Given the description of an element on the screen output the (x, y) to click on. 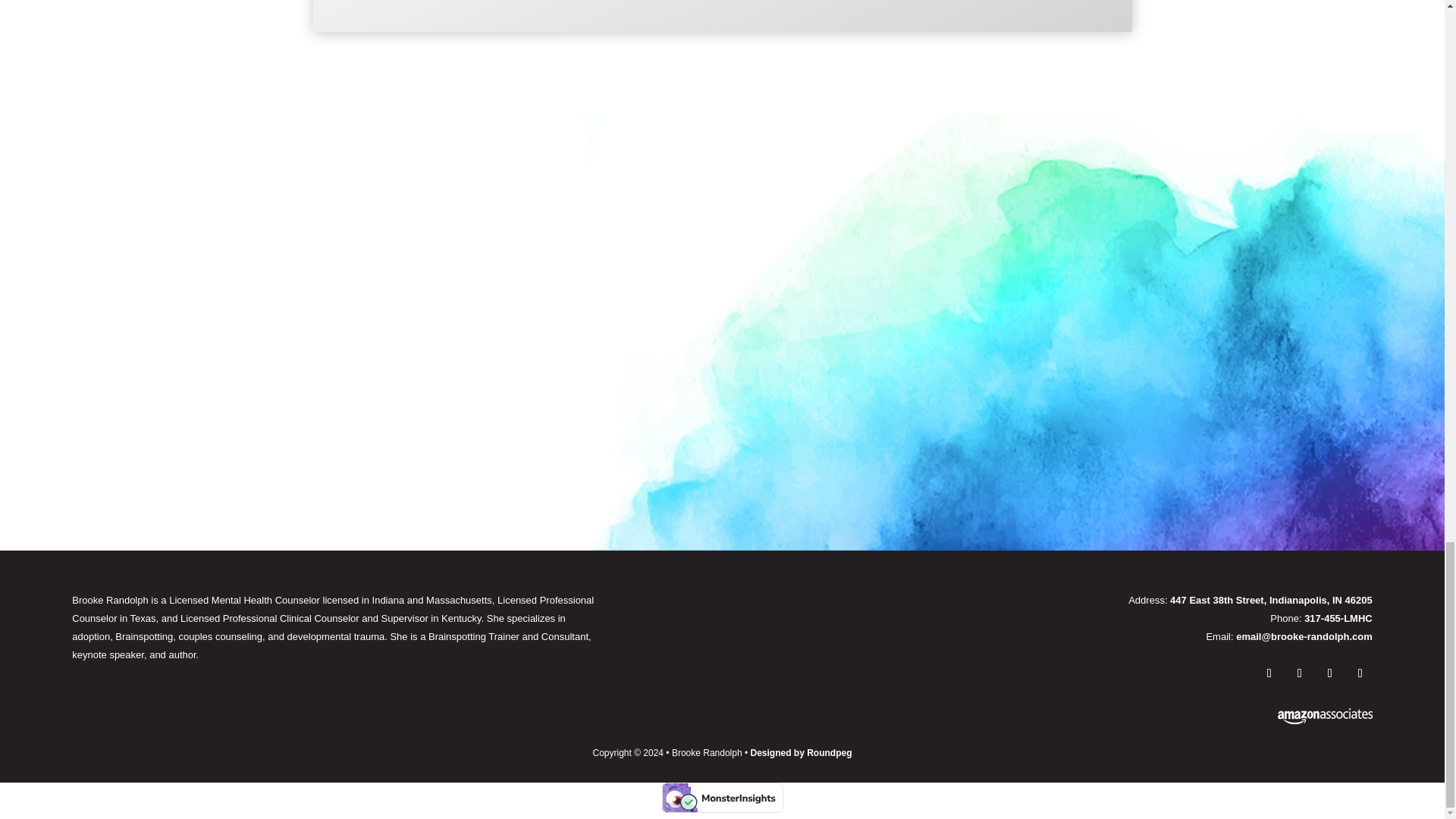
Follow on X (1329, 672)
447 East 38th Street, Indianapolis, IN 46205 (1271, 600)
Page 1 (1065, 618)
amazon-associates-150 (1325, 715)
Follow on Instagram (1269, 672)
Follow on LinkedIn (1360, 672)
Verified by MonsterInsights (722, 797)
Follow on Facebook (1299, 672)
317-455-LMHC (1338, 618)
